Given the description of an element on the screen output the (x, y) to click on. 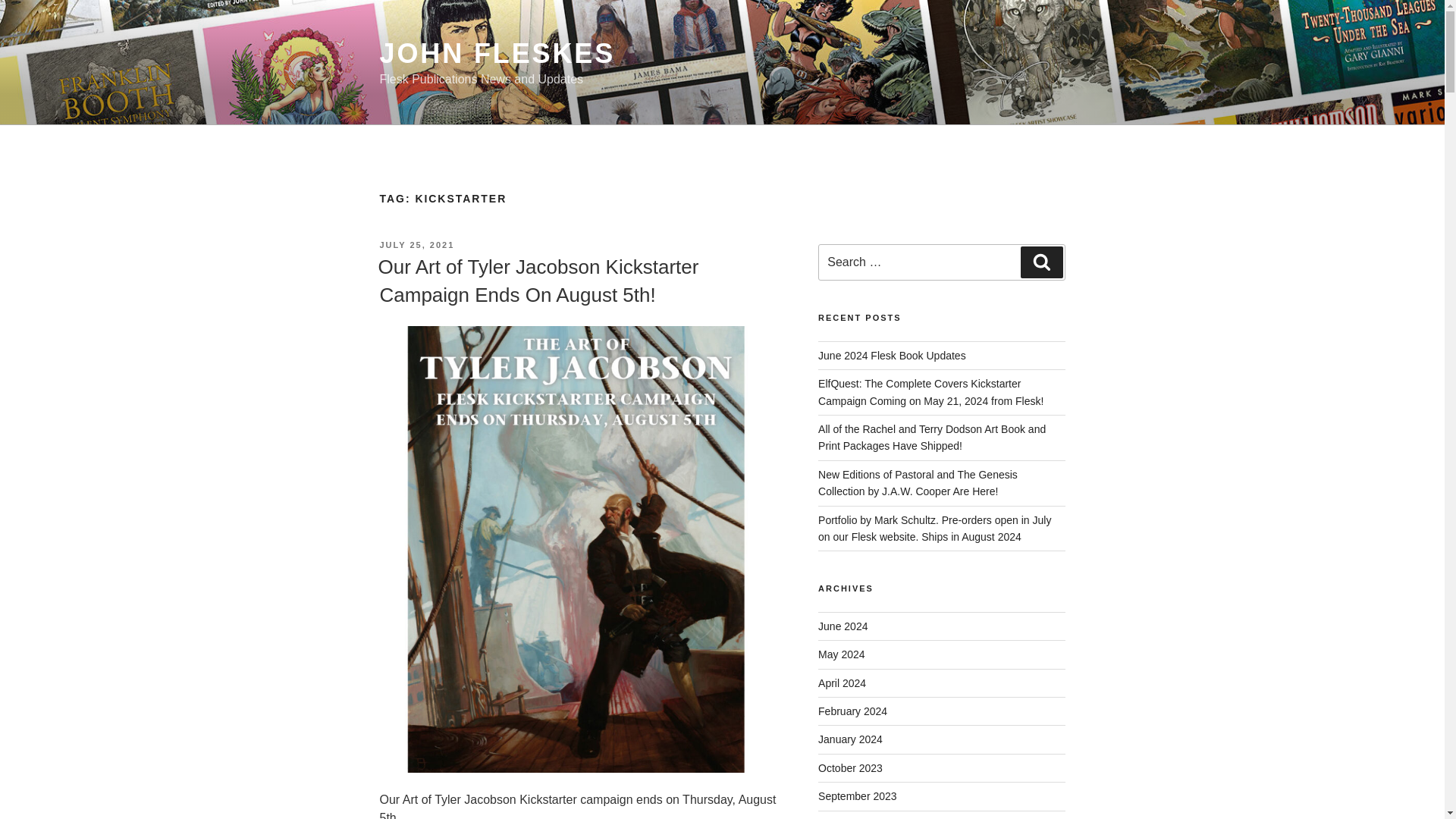
JULY 25, 2021 (416, 244)
JOHN FLESKES (496, 52)
